Given the description of an element on the screen output the (x, y) to click on. 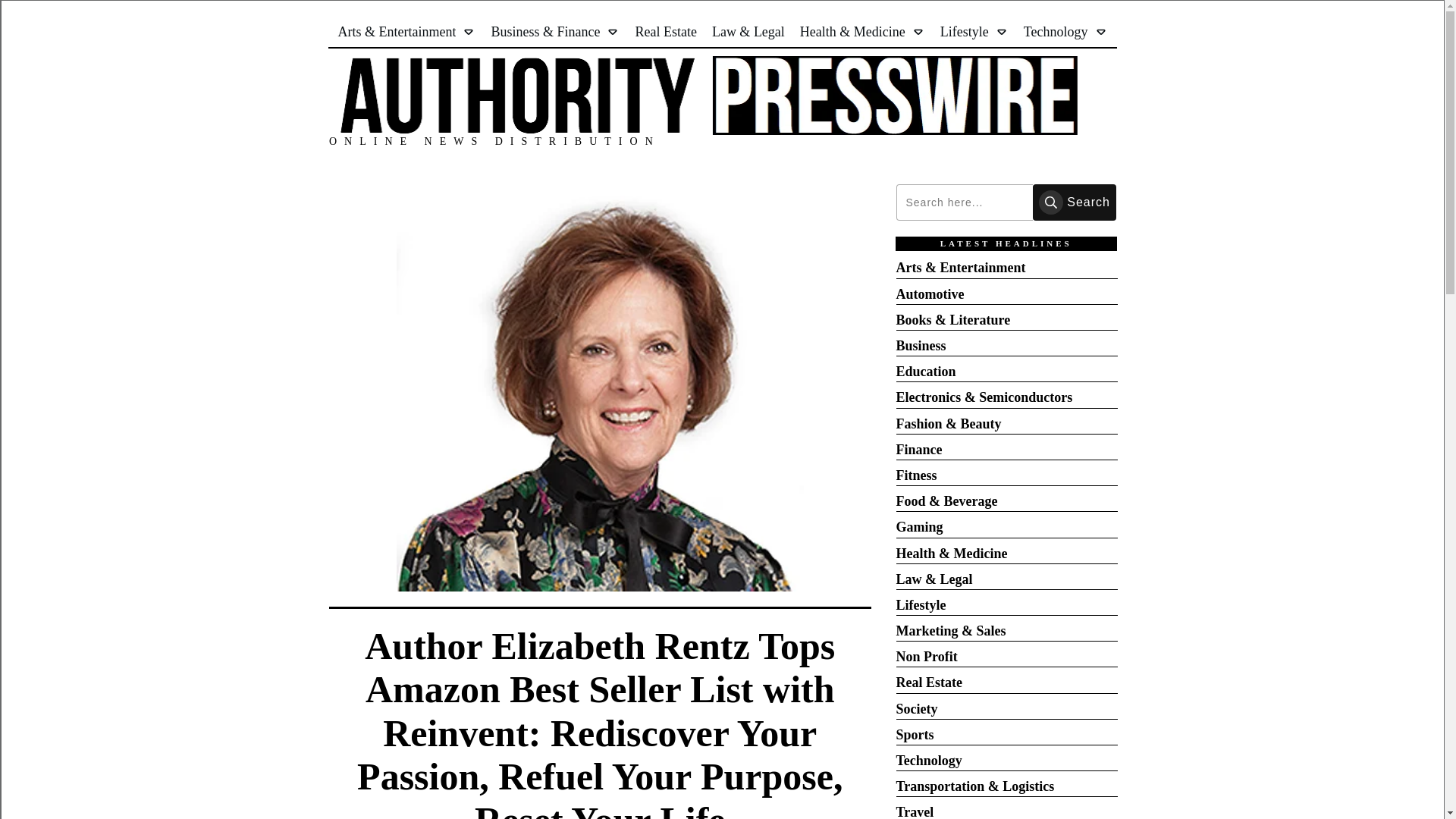
Business (921, 345)
Technology (1065, 31)
Search (1074, 202)
Lifestyle (974, 31)
Real Estate (664, 31)
Automotive (929, 294)
